Given the description of an element on the screen output the (x, y) to click on. 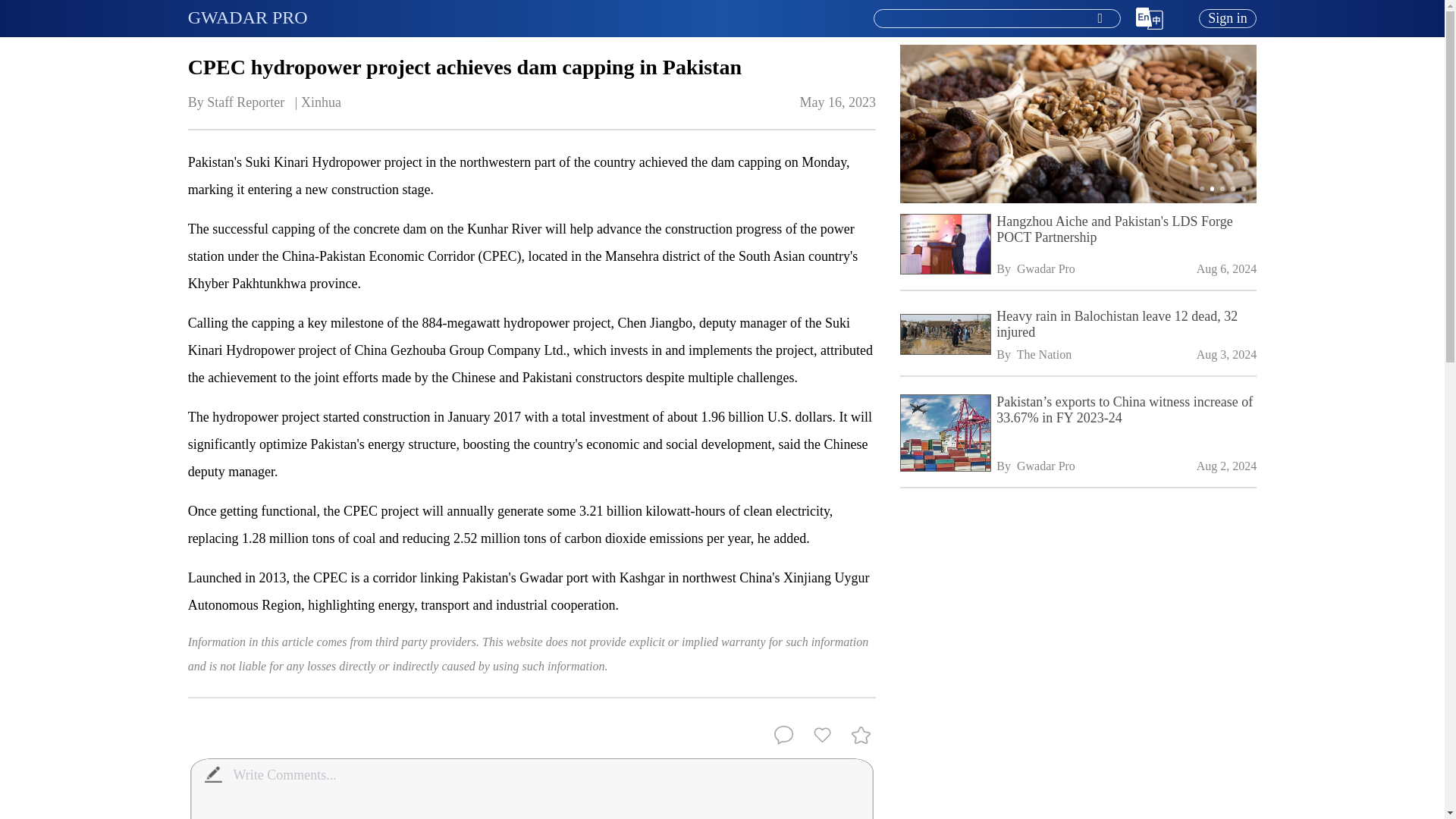
Heavy rain in Balochistan leave 12 dead, 32 injured (943, 335)
Heavy rain in Balochistan leave 12 dead, 32 injured (1125, 324)
Hangzhou Aiche and Pakistan's LDS Forge POCT Partnership (1125, 229)
GWADAR PRO (247, 17)
Hangzhou Aiche and Pakistan's LDS Forge POCT Partnership (943, 245)
Hangzhou Aiche and Pakistan's LDS Forge POCT Partnership (1125, 229)
Heavy rain in Balochistan leave 12 dead, 32 injured (1125, 324)
